Given the description of an element on the screen output the (x, y) to click on. 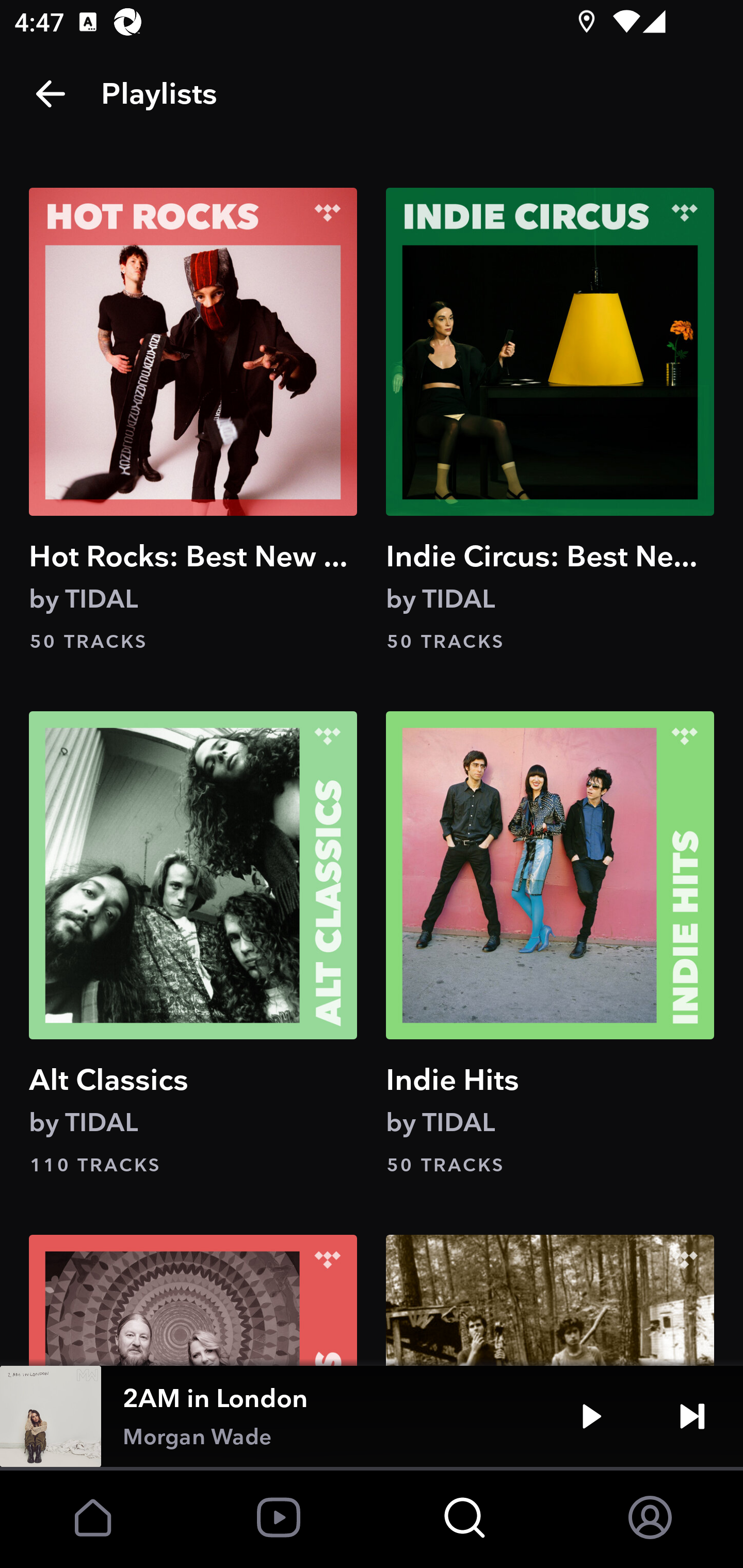
Hot Rocks: Best New Rock by TIDAL 50 TRACKS (192, 420)
Indie Circus: Best New Indie by TIDAL 50 TRACKS (549, 420)
Alt Classics by TIDAL 110 TRACKS (192, 944)
Indie Hits by TIDAL 50 TRACKS (549, 944)
2AM in London Morgan Wade Play (371, 1416)
Play (590, 1416)
